Given the description of an element on the screen output the (x, y) to click on. 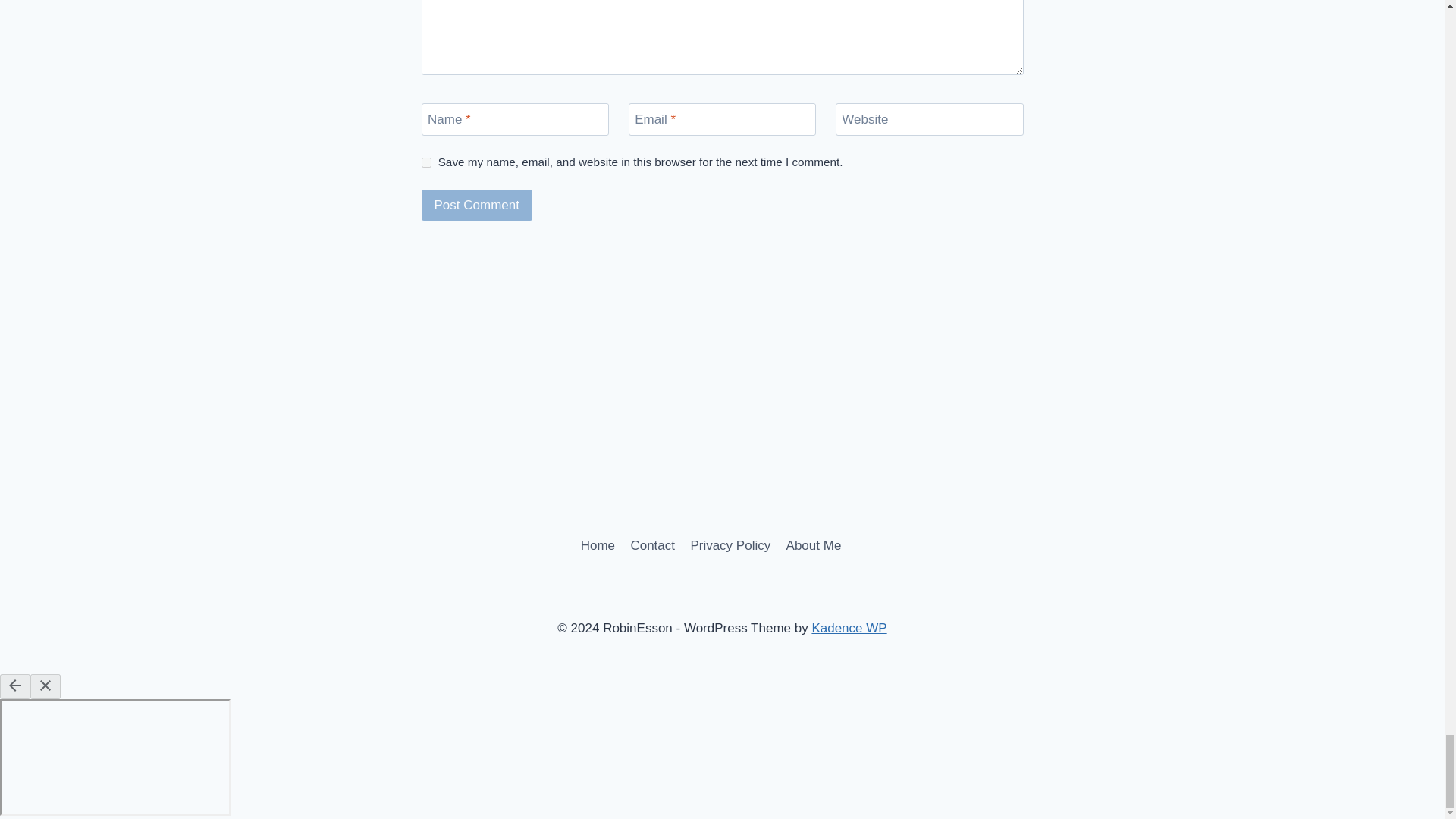
yes (426, 162)
Post Comment (477, 204)
